Given the description of an element on the screen output the (x, y) to click on. 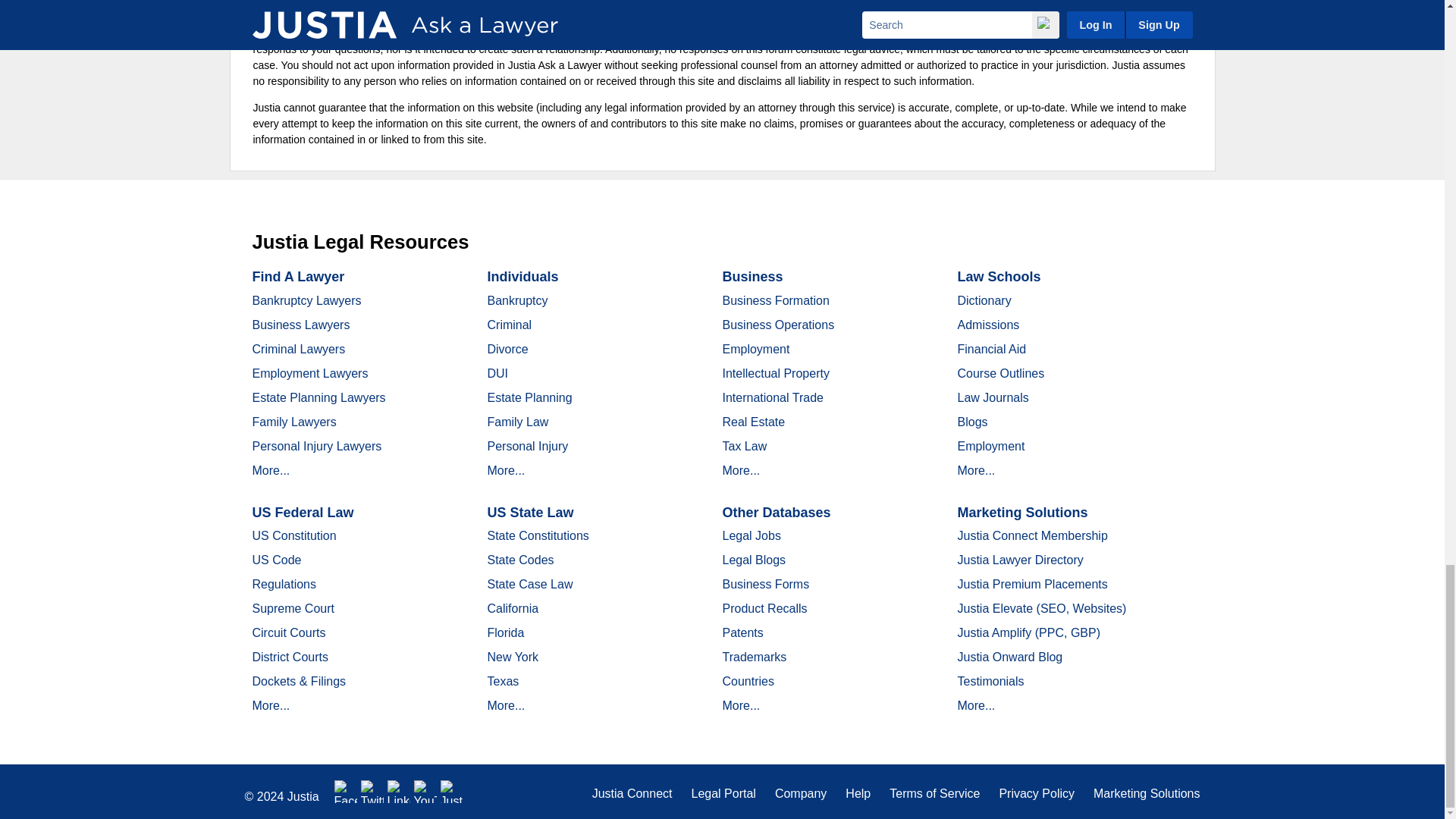
Twitter (372, 791)
YouTube (424, 791)
Facebook (345, 791)
Justia Lawyer Directory (452, 791)
LinkedIn (398, 791)
